Given the description of an element on the screen output the (x, y) to click on. 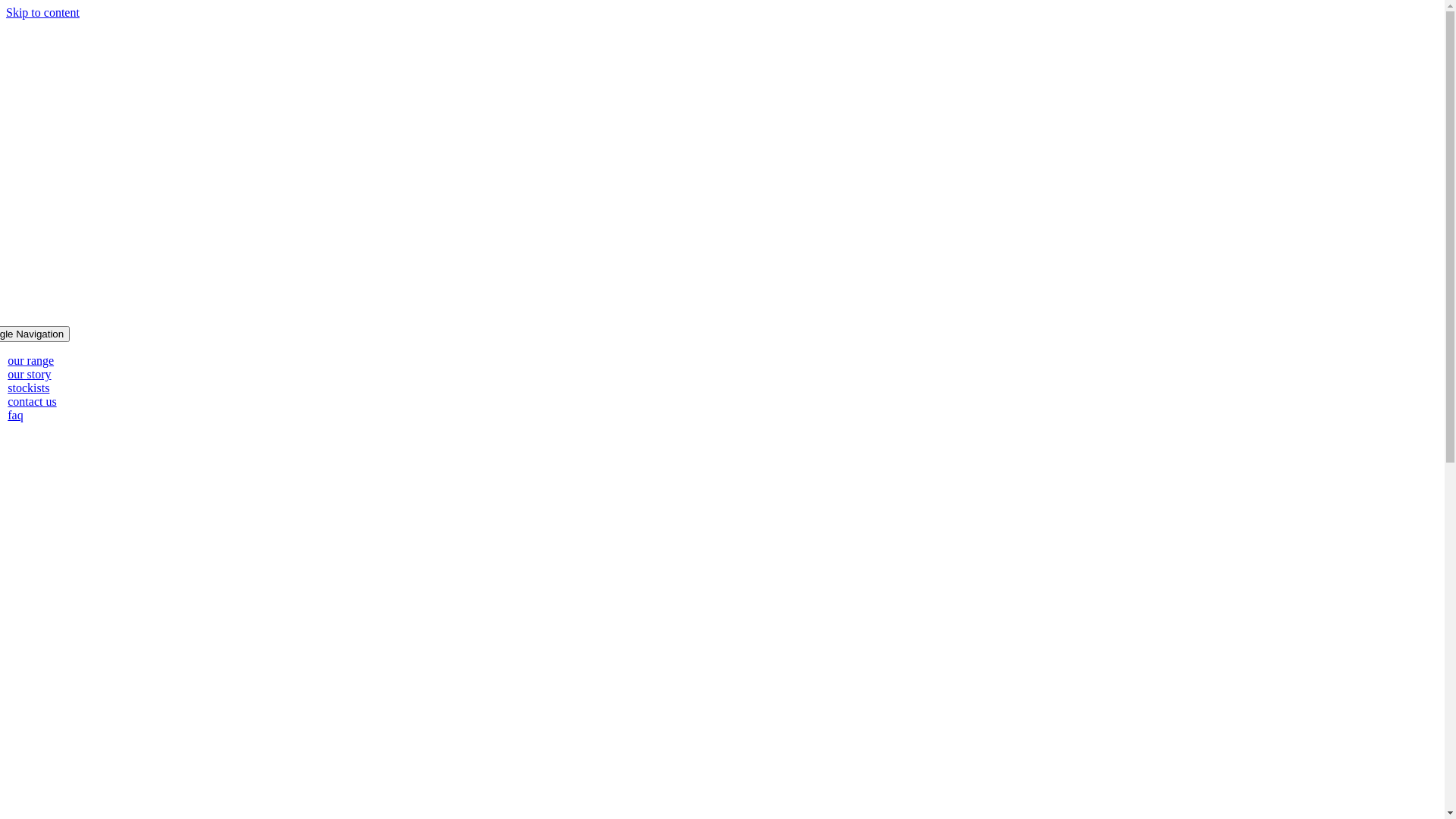
stockists Element type: text (28, 387)
contact us Element type: text (31, 401)
Skip to content Element type: text (42, 12)
our story Element type: text (28, 373)
faq Element type: text (14, 414)
our range Element type: text (30, 360)
